Given the description of an element on the screen output the (x, y) to click on. 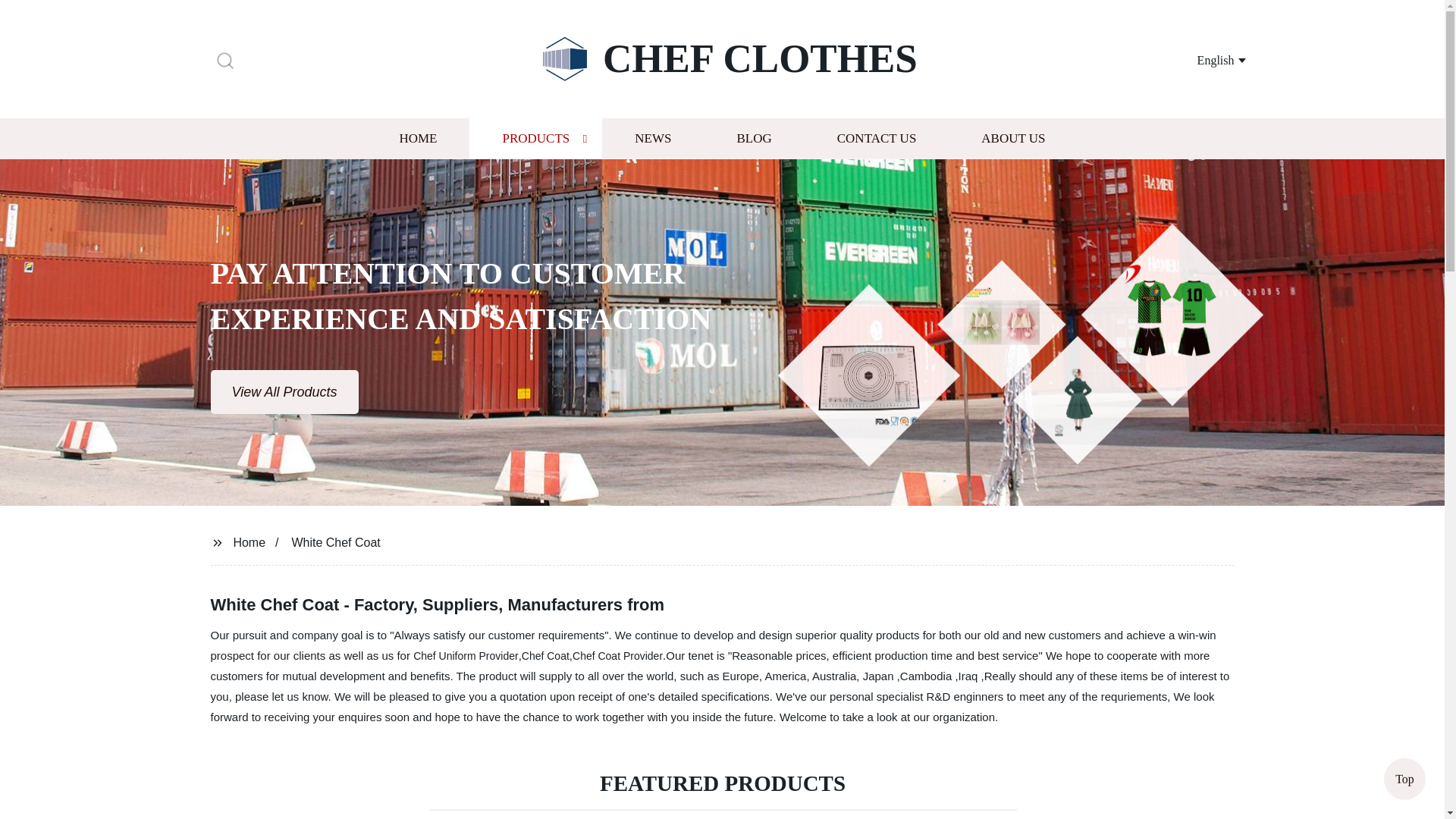
Chef Coat (545, 654)
NEWS (652, 137)
ABOUT US (1013, 137)
PRODUCTS (535, 137)
CONTACT US (877, 137)
BLOG (753, 137)
Chef Uniform Provider (465, 654)
English (1203, 59)
Chef Coat (545, 654)
Top (1404, 777)
Chef Coat Provider (617, 654)
HOME (417, 137)
English (1203, 59)
White Chef Coat (335, 541)
Chef Coat Provider (617, 654)
